Given the description of an element on the screen output the (x, y) to click on. 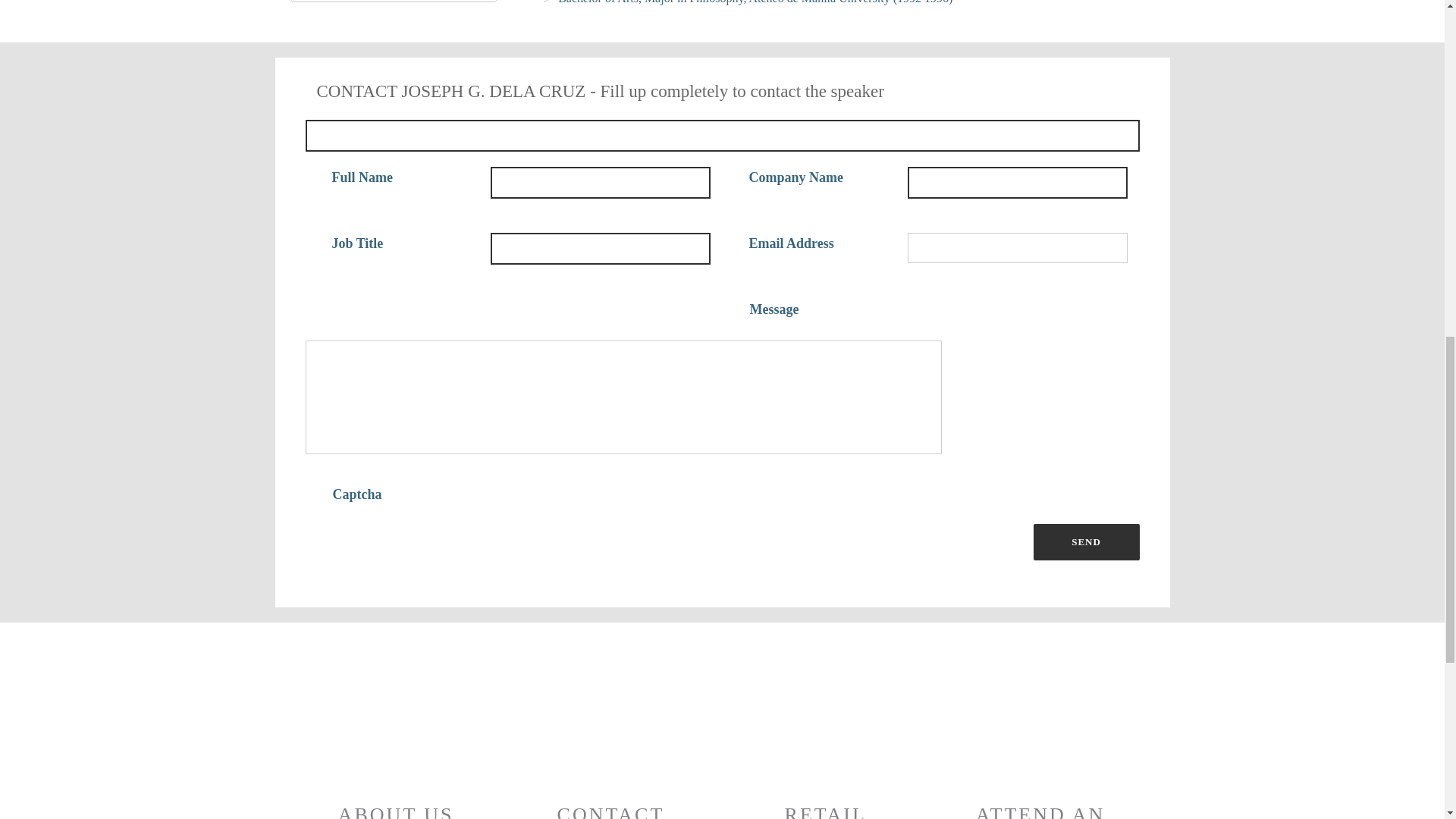
CONTACT US (610, 756)
ABOUT US (394, 756)
Send (1085, 542)
Send (1085, 542)
RETAIL PRODUCTS (825, 756)
ATTEND AN EVENT (1039, 756)
